Given the description of an element on the screen output the (x, y) to click on. 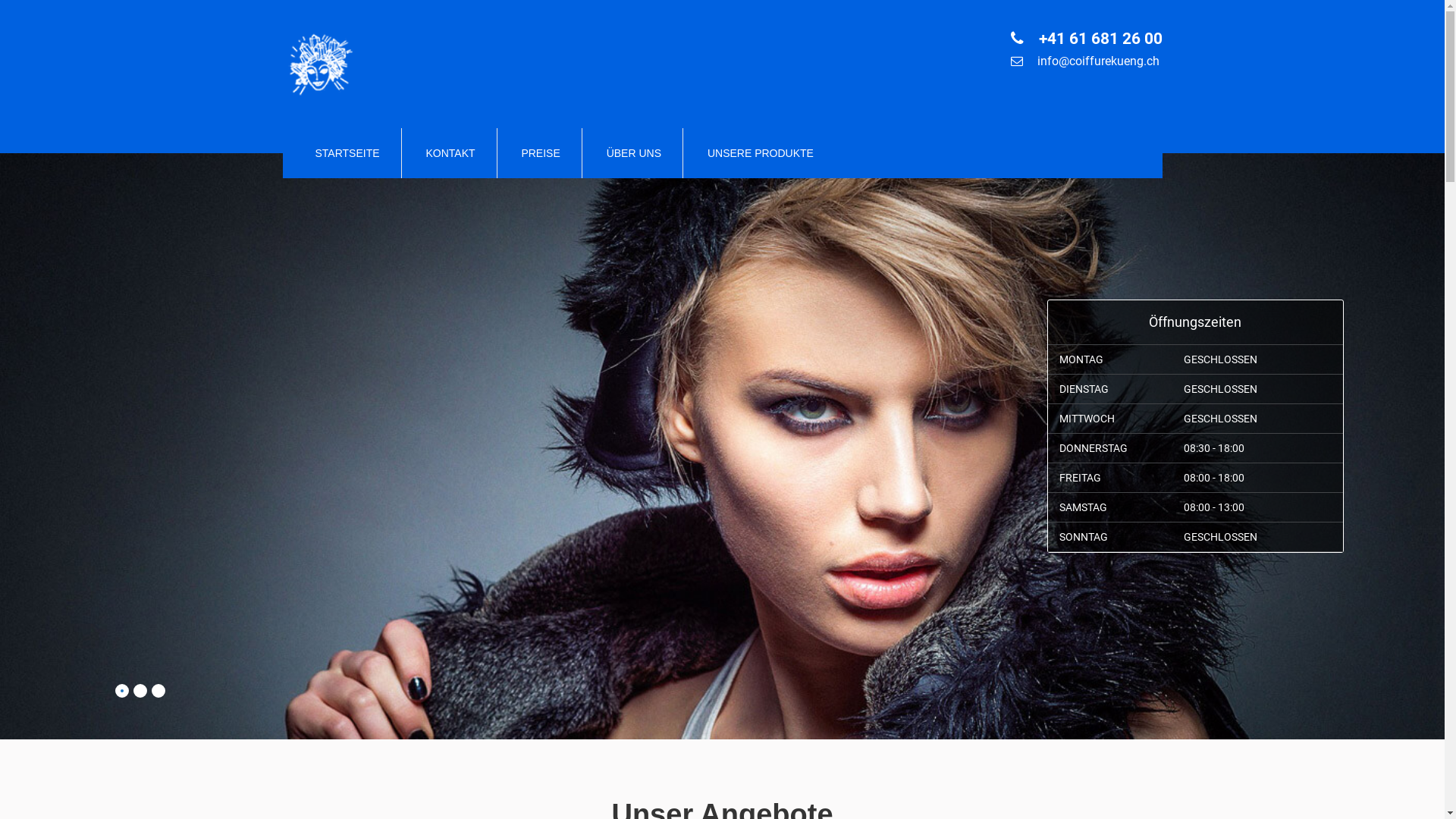
2 Element type: text (140, 690)
3 Element type: text (158, 690)
info@coiffurekueng.ch Element type: text (1096, 60)
UNSERE PRODUKTE Element type: text (760, 153)
+41 61 681 26 00 Element type: text (1097, 38)
STARTSEITE Element type: text (347, 153)
1 Element type: text (121, 690)
PREISE Element type: text (539, 153)
KONTAKT Element type: text (449, 153)
